Given the description of an element on the screen output the (x, y) to click on. 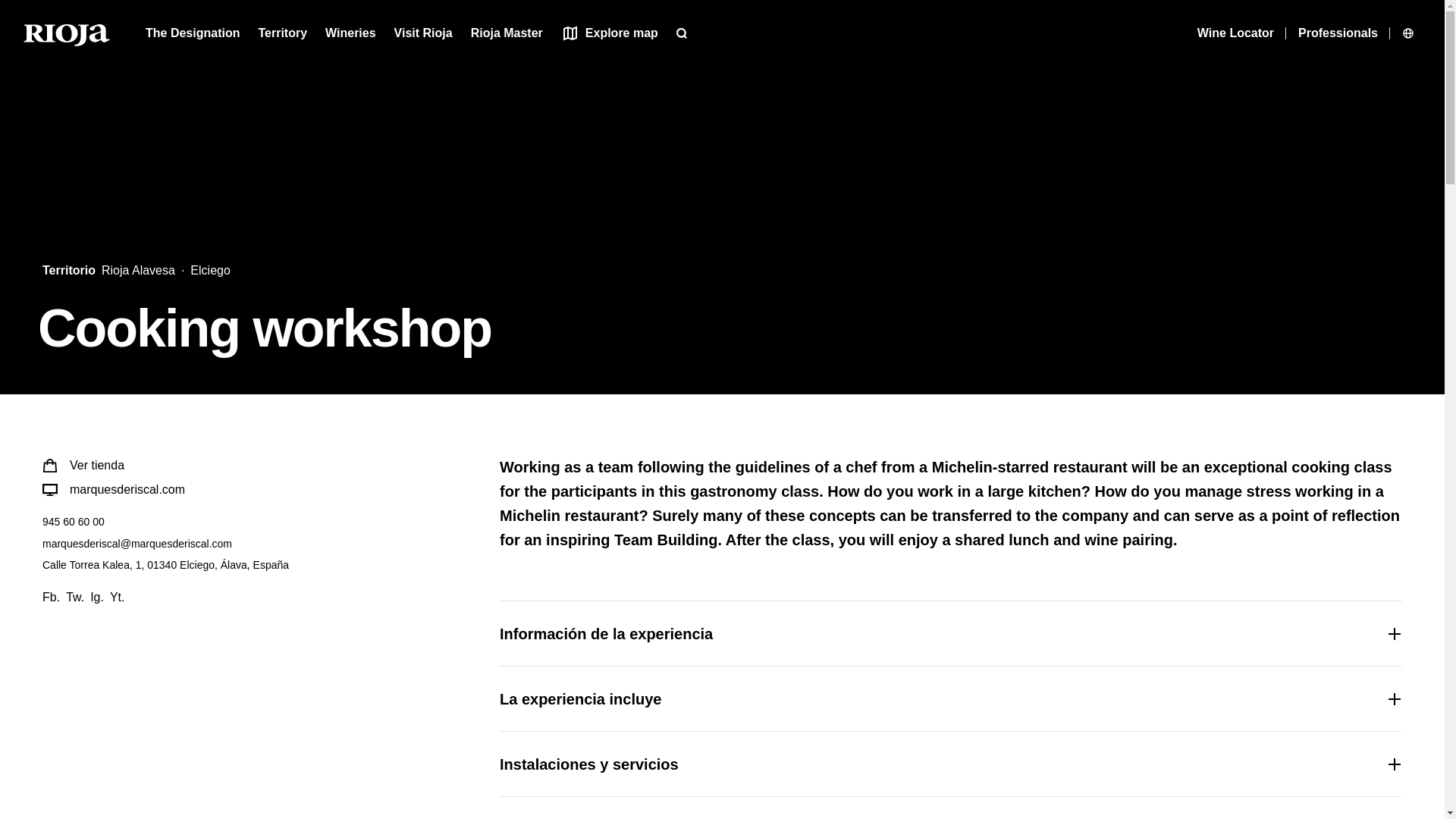
Wineries (349, 32)
Open lang switcher (1411, 33)
Visit Rioja (423, 32)
Territory (282, 32)
The Designation (192, 32)
